Given the description of an element on the screen output the (x, y) to click on. 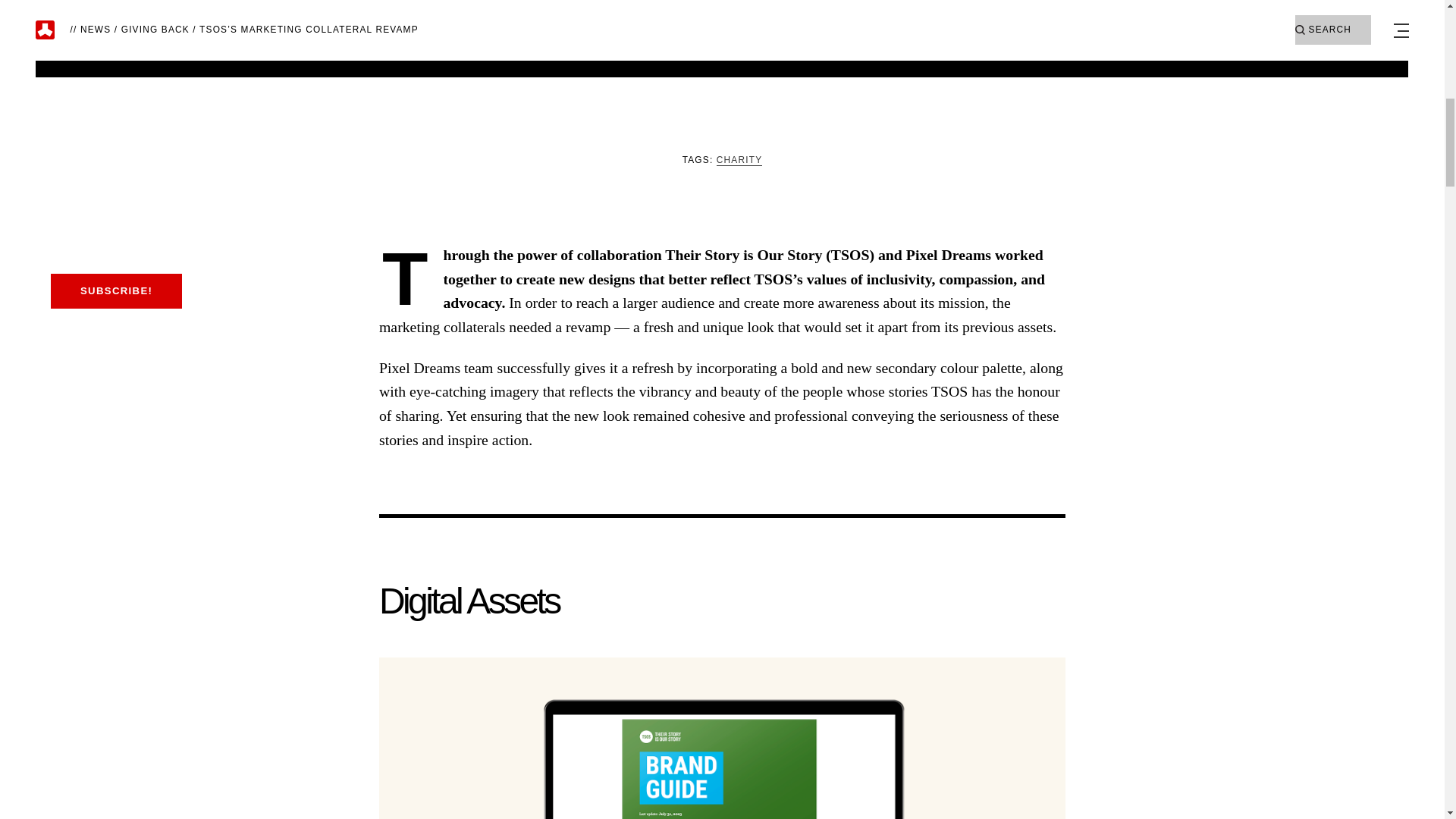
CHARITY (738, 160)
SUBSCRIBE! (115, 290)
